Given the description of an element on the screen output the (x, y) to click on. 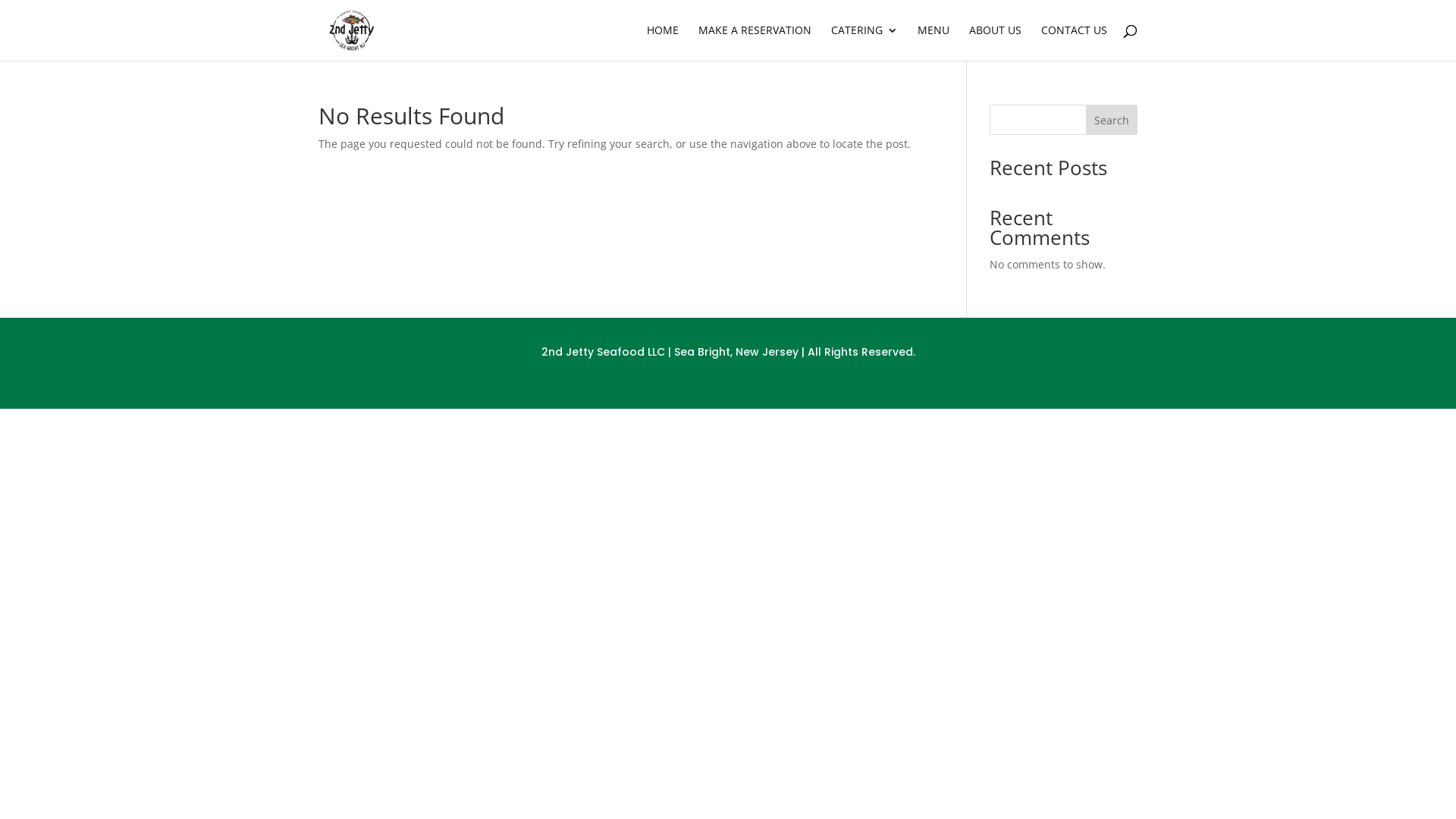
CONTACT US Element type: text (1074, 42)
ABOUT US Element type: text (995, 42)
CATERING Element type: text (864, 42)
MENU Element type: text (933, 42)
MAKE A RESERVATION Element type: text (754, 42)
HOME Element type: text (662, 42)
Search Element type: text (1111, 119)
